Given the description of an element on the screen output the (x, y) to click on. 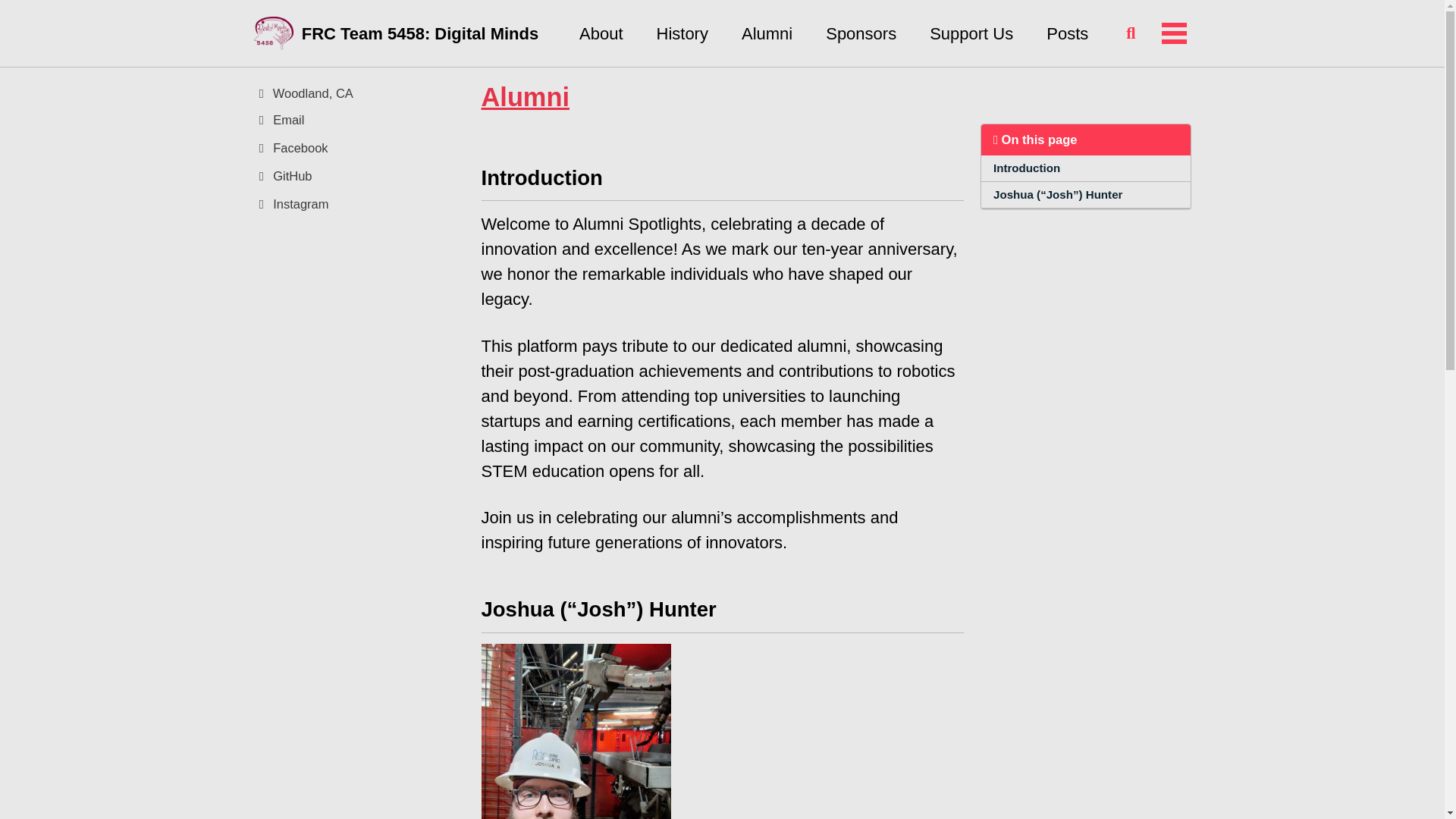
Support Us (971, 33)
GitHub (358, 176)
History (681, 33)
Sponsors (860, 33)
Instagram (358, 204)
Posts (1066, 33)
Alumni (766, 33)
About (601, 33)
Facebook (358, 147)
